Given the description of an element on the screen output the (x, y) to click on. 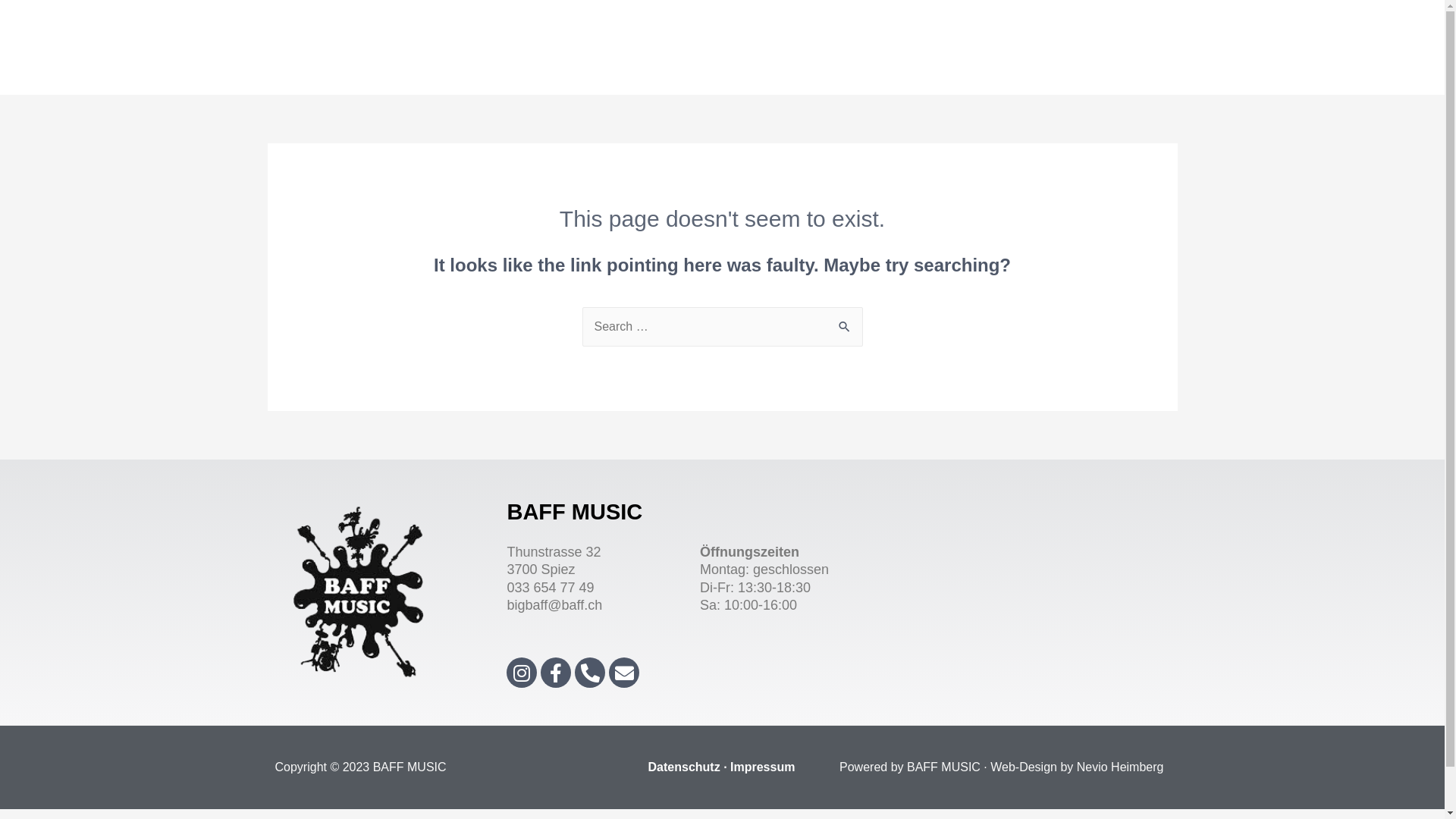
Datenschutz Element type: text (684, 766)
Impressum Element type: text (762, 766)
Search Element type: text (845, 322)
Baff  music spiez Element type: hover (1021, 592)
